Given the description of an element on the screen output the (x, y) to click on. 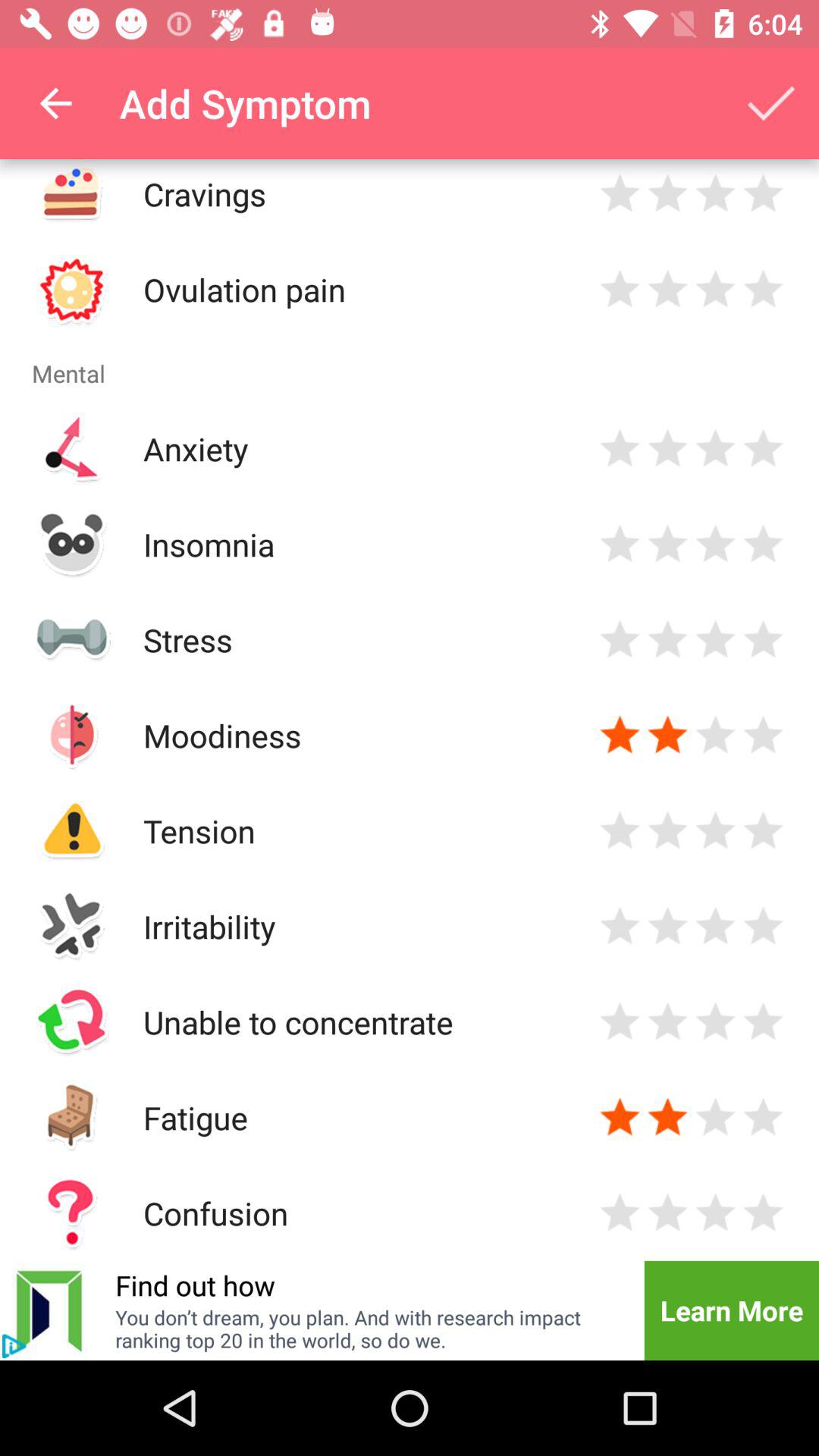
mark as two stars (667, 193)
